Given the description of an element on the screen output the (x, y) to click on. 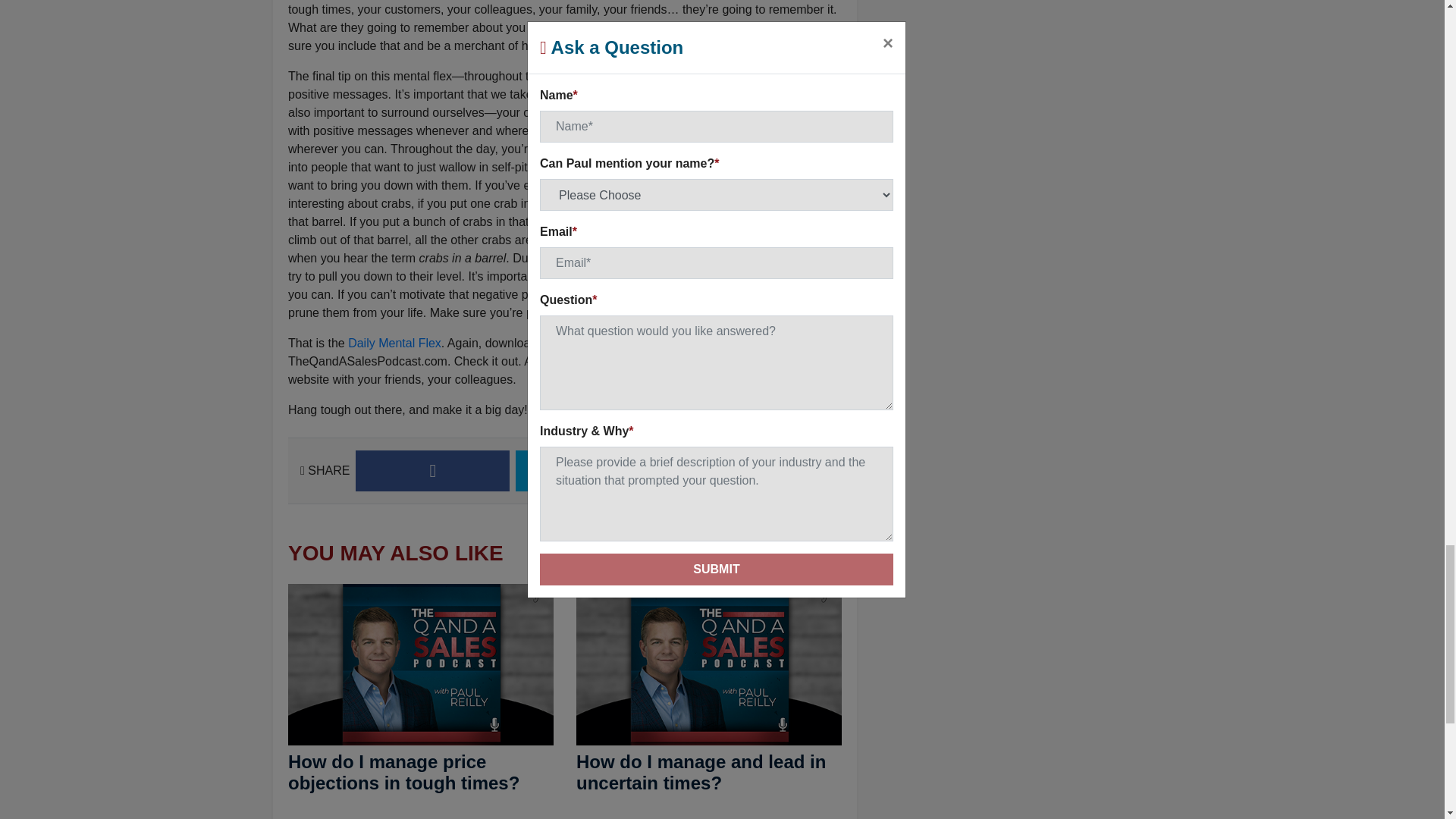
How do I manage and lead in uncertain times? (700, 772)
Daily Mental Flex (394, 342)
How do I manage price objections in tough times? (403, 772)
